Given the description of an element on the screen output the (x, y) to click on. 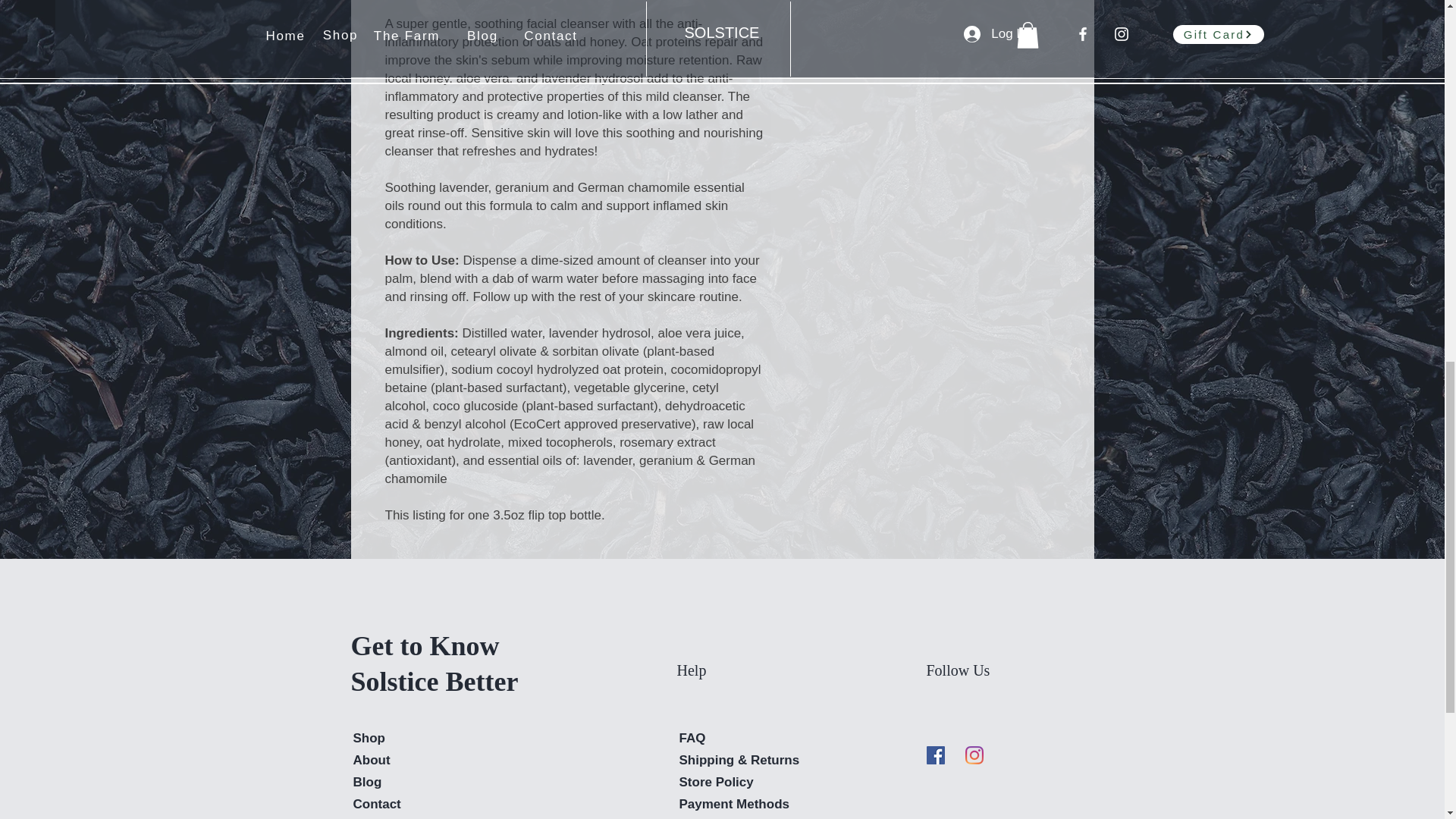
Blog (367, 781)
Payment Methods  (736, 803)
FAQ (692, 738)
About (371, 759)
Contact (377, 803)
Store Policy (716, 781)
Shop (369, 738)
